Given the description of an element on the screen output the (x, y) to click on. 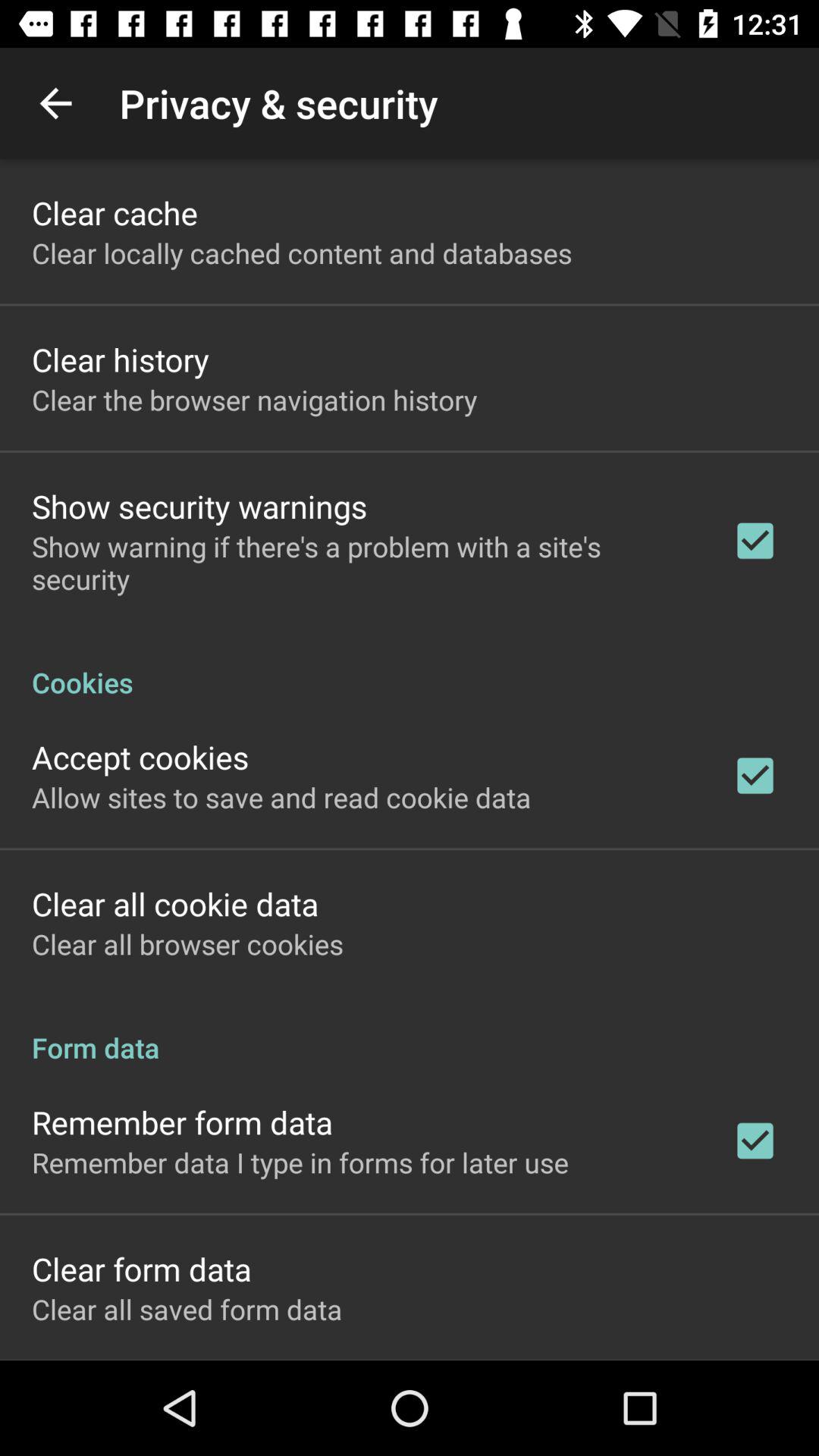
turn on show warning if (361, 562)
